Given the description of an element on the screen output the (x, y) to click on. 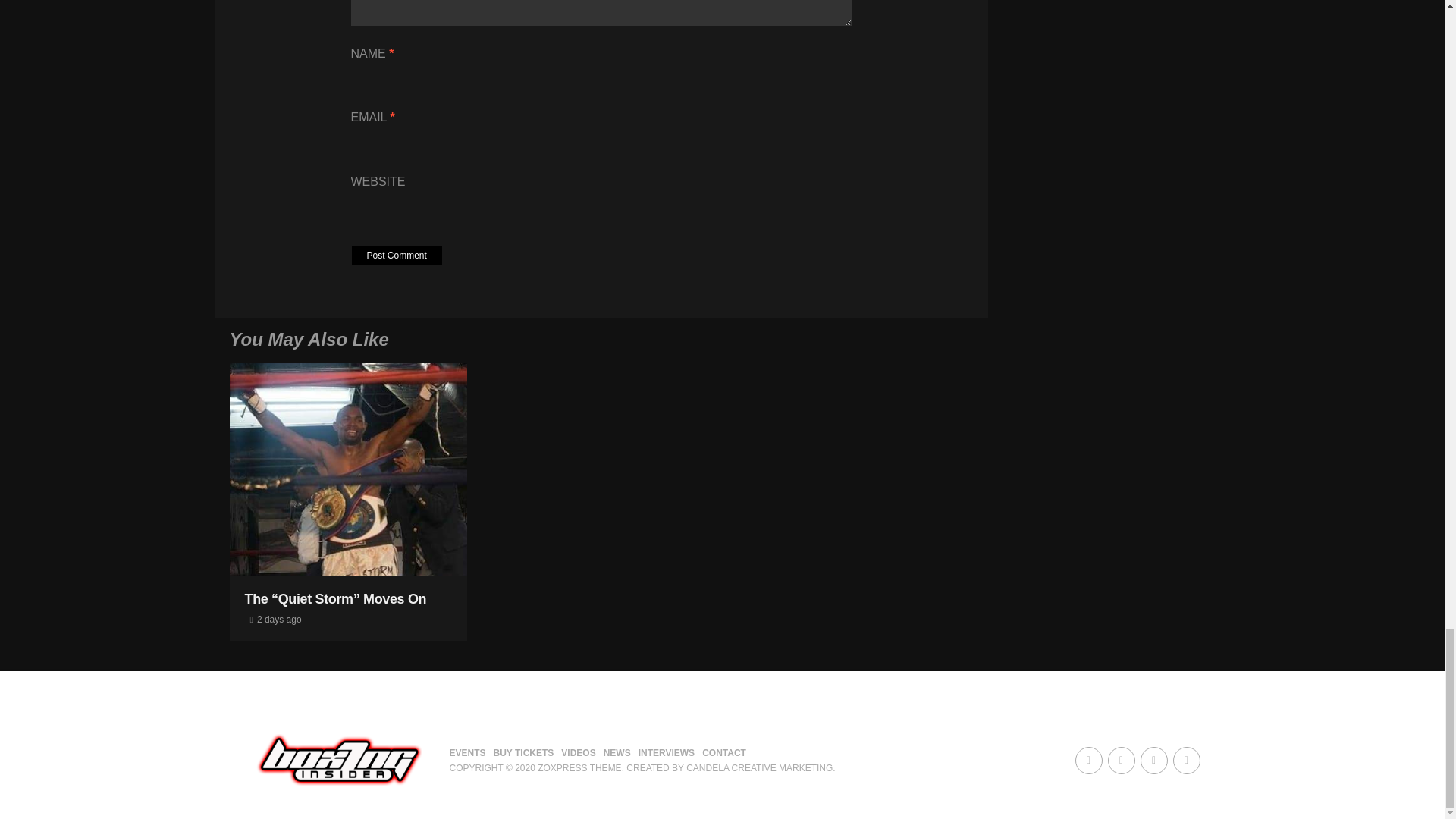
Post Comment (397, 255)
